Given the description of an element on the screen output the (x, y) to click on. 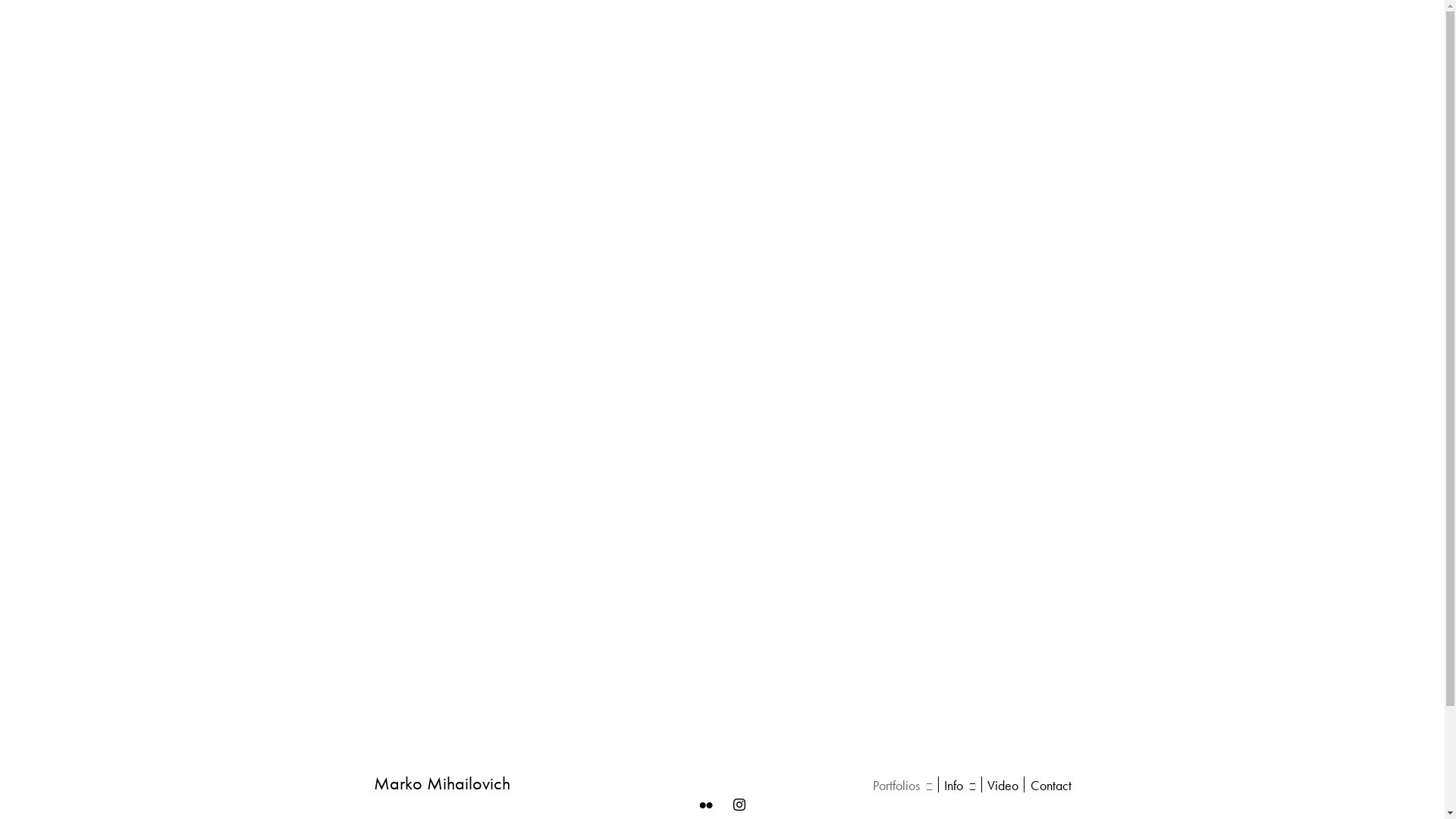
Video Element type: text (1002, 785)
Marko Mihailovich Element type: text (441, 782)
Contact Element type: text (1049, 785)
